Given the description of an element on the screen output the (x, y) to click on. 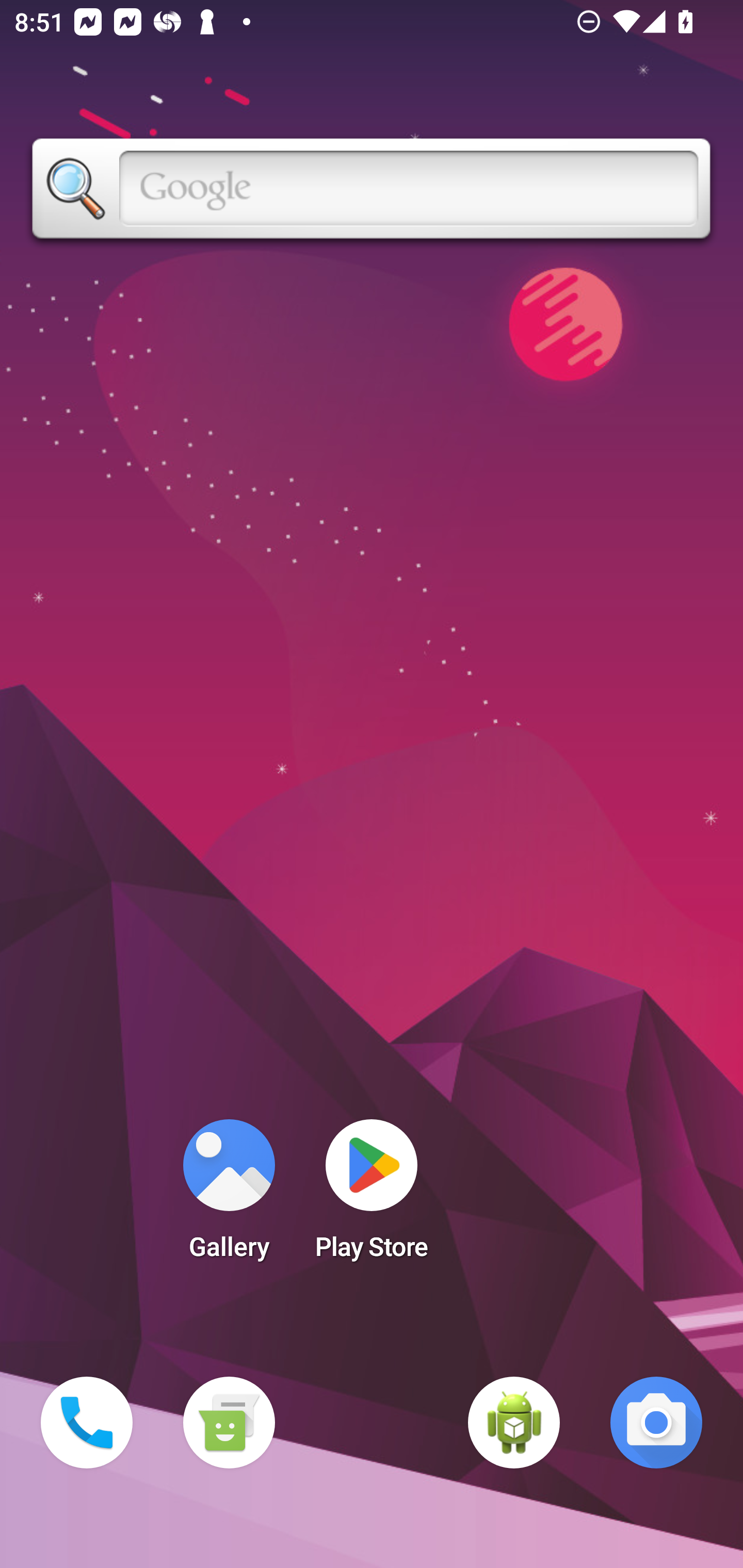
Gallery (228, 1195)
Play Store (371, 1195)
Phone (86, 1422)
Messaging (228, 1422)
WebView Browser Tester (513, 1422)
Camera (656, 1422)
